Given the description of an element on the screen output the (x, y) to click on. 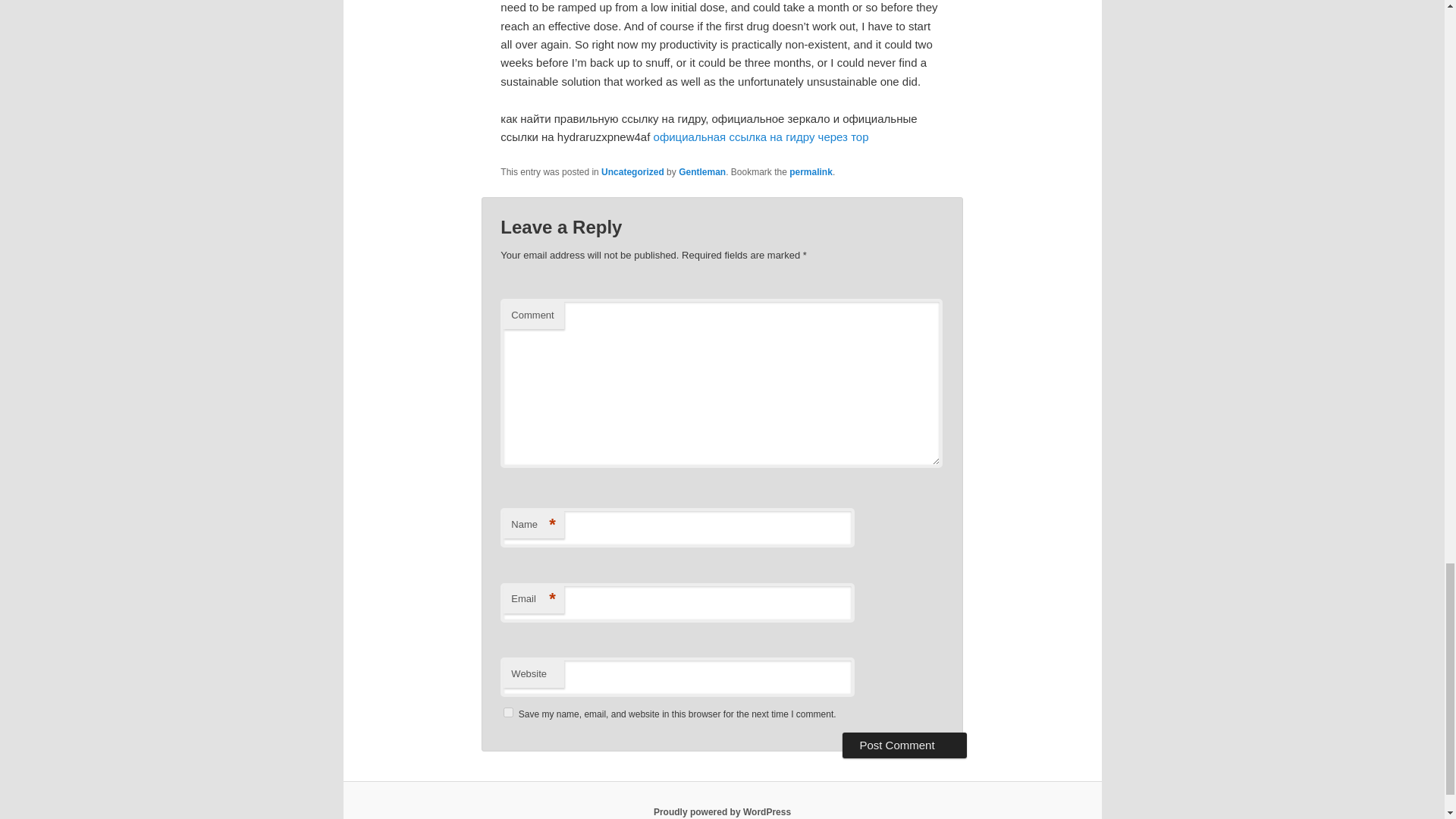
Gentleman (701, 172)
Proudly powered by WordPress (721, 811)
Semantic Personal Publishing Platform (721, 811)
Permalink to ADD Diagnosis (810, 172)
Post Comment (904, 745)
permalink (810, 172)
Post Comment (904, 745)
Uncategorized (632, 172)
yes (508, 712)
